Given the description of an element on the screen output the (x, y) to click on. 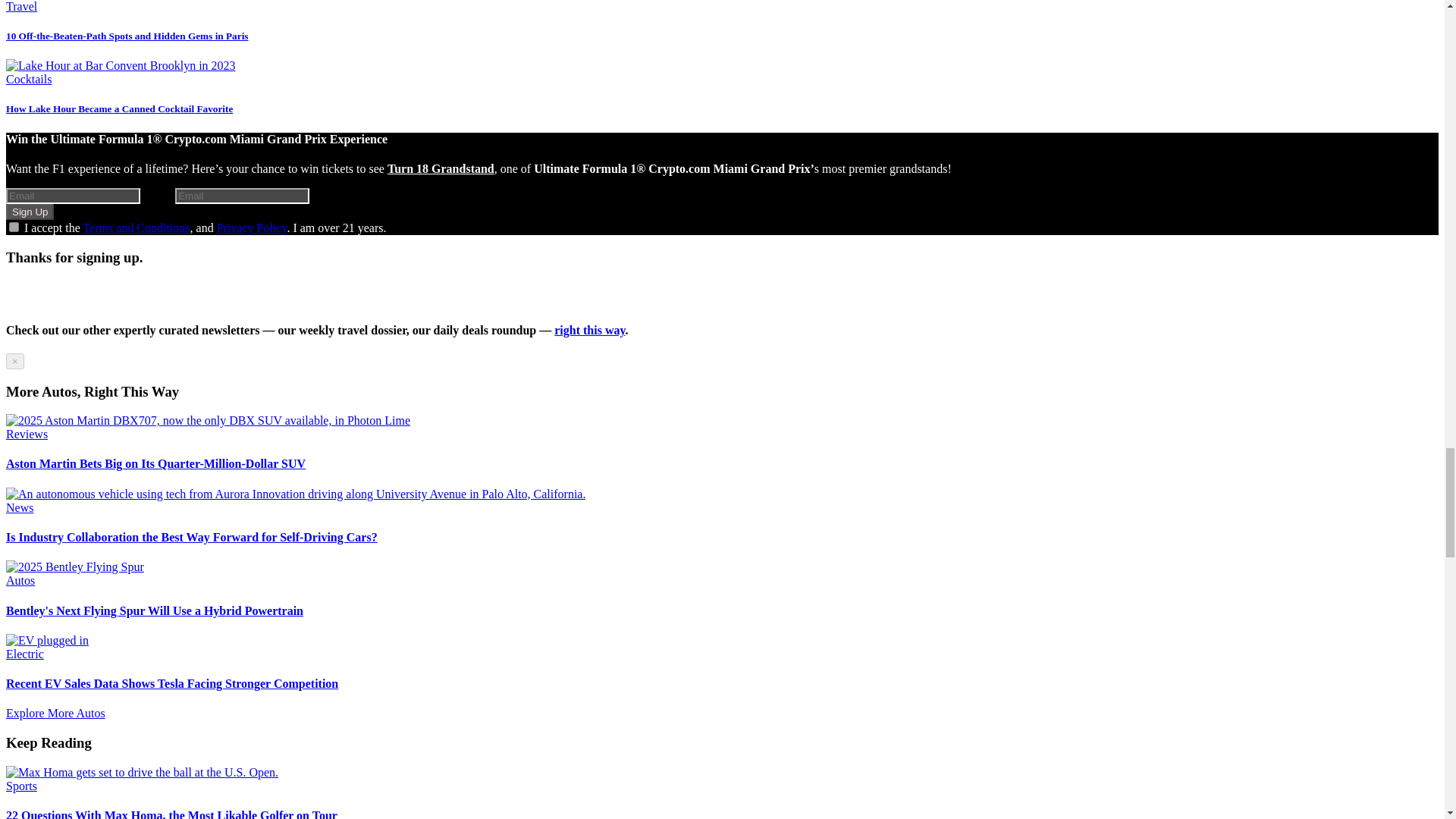
on (13, 226)
